Given the description of an element on the screen output the (x, y) to click on. 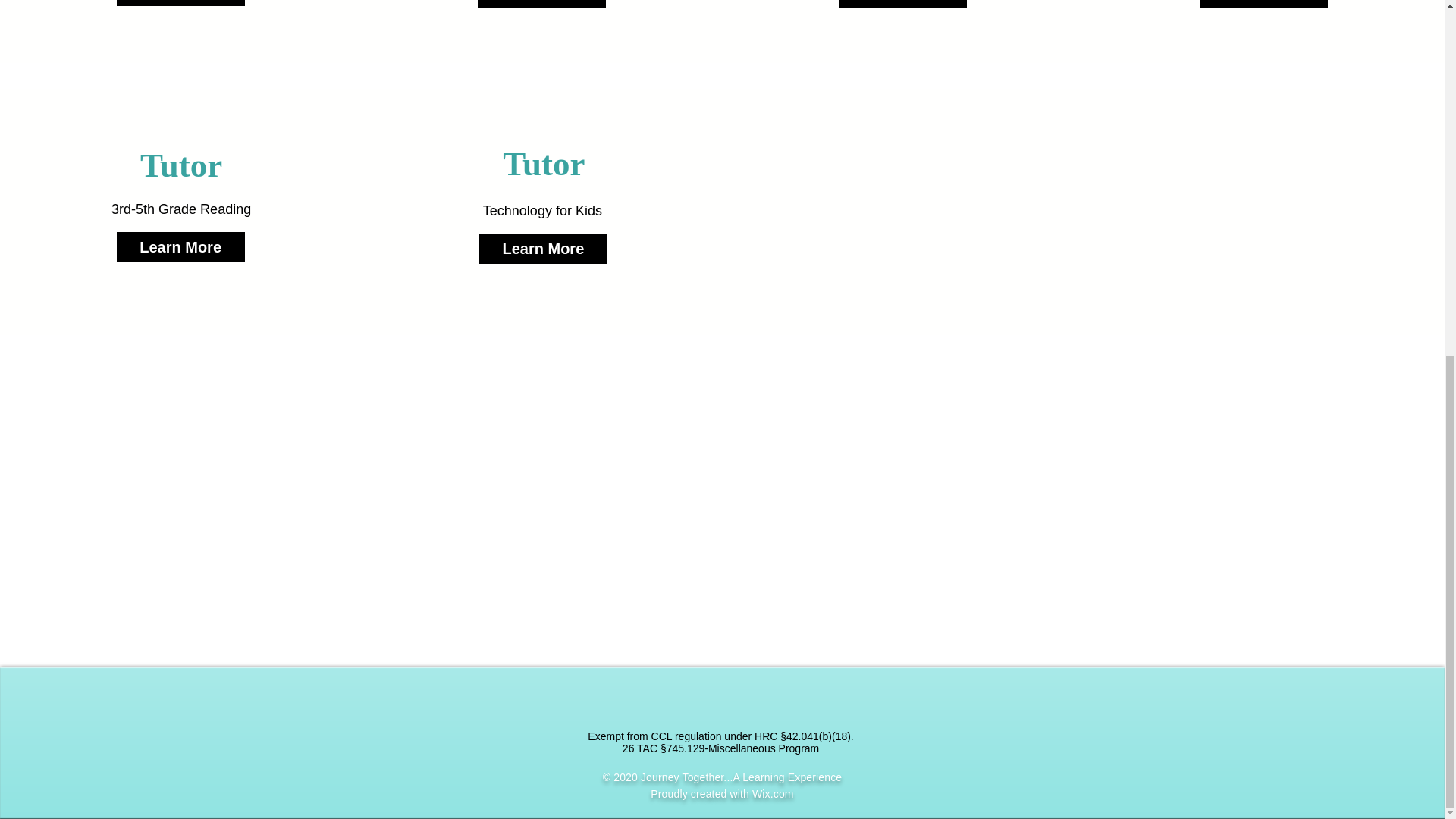
Learn More (180, 2)
Learn More (1263, 4)
Learn More (180, 246)
Wix.com (772, 793)
Learn More (902, 4)
Learn More (543, 248)
Learn More (541, 4)
